Given the description of an element on the screen output the (x, y) to click on. 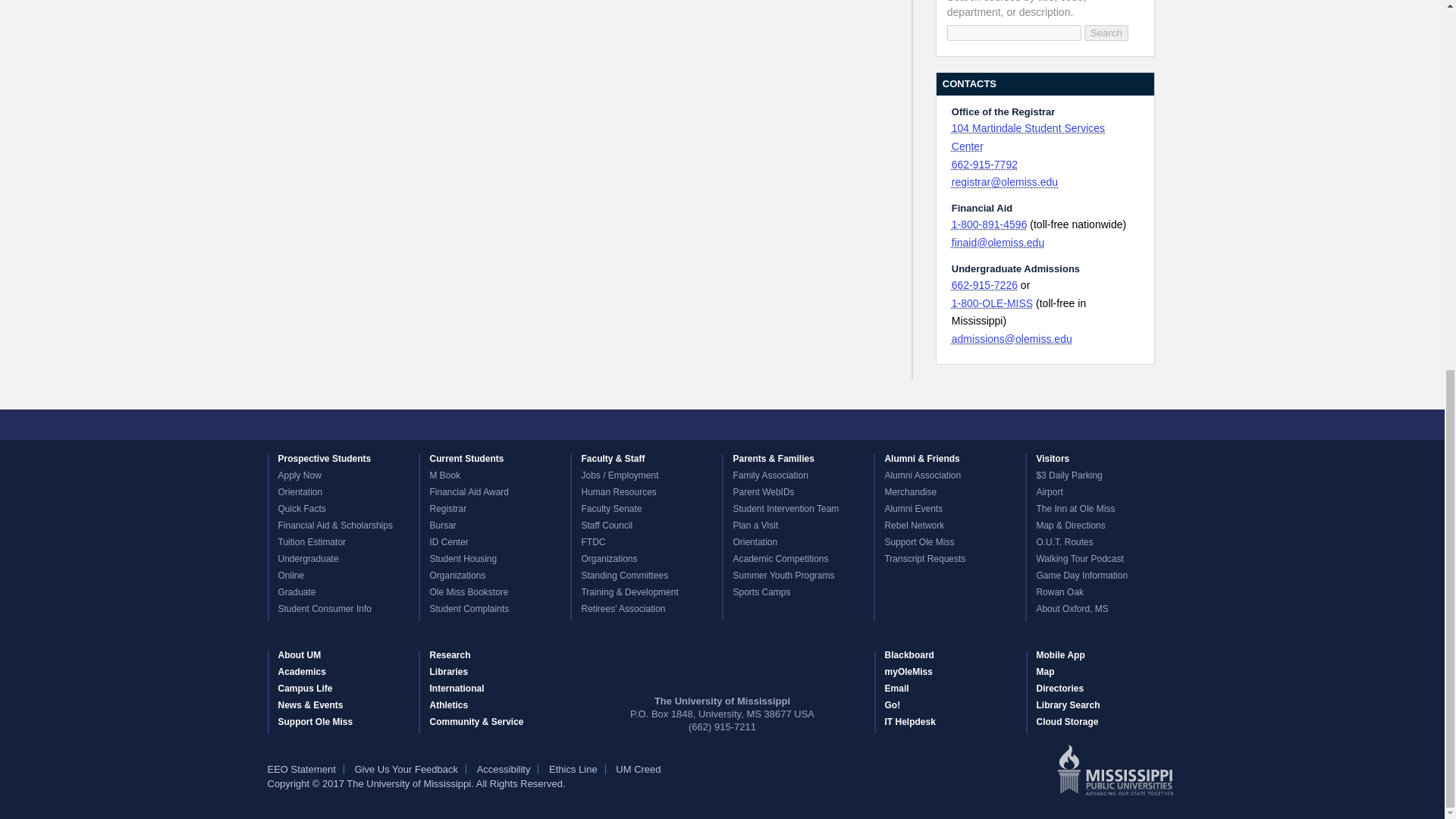
Search (1106, 32)
News Feed (818, 424)
Flickr (735, 424)
Facebook (627, 424)
Twitter (654, 424)
Pinterest (790, 424)
Youtube (763, 424)
Instagram (708, 424)
